Given the description of an element on the screen output the (x, y) to click on. 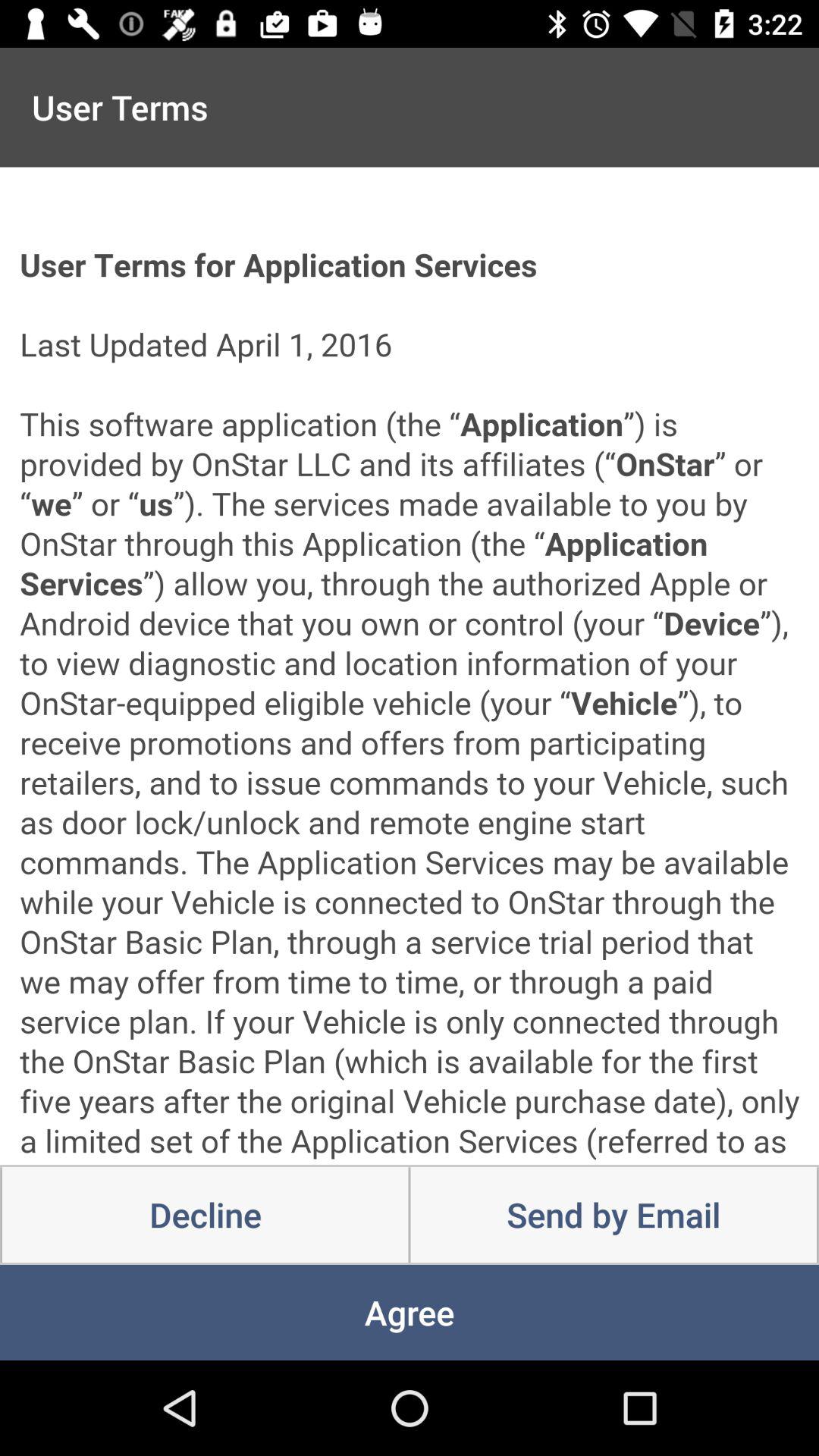
click the icon below decline item (409, 1312)
